Given the description of an element on the screen output the (x, y) to click on. 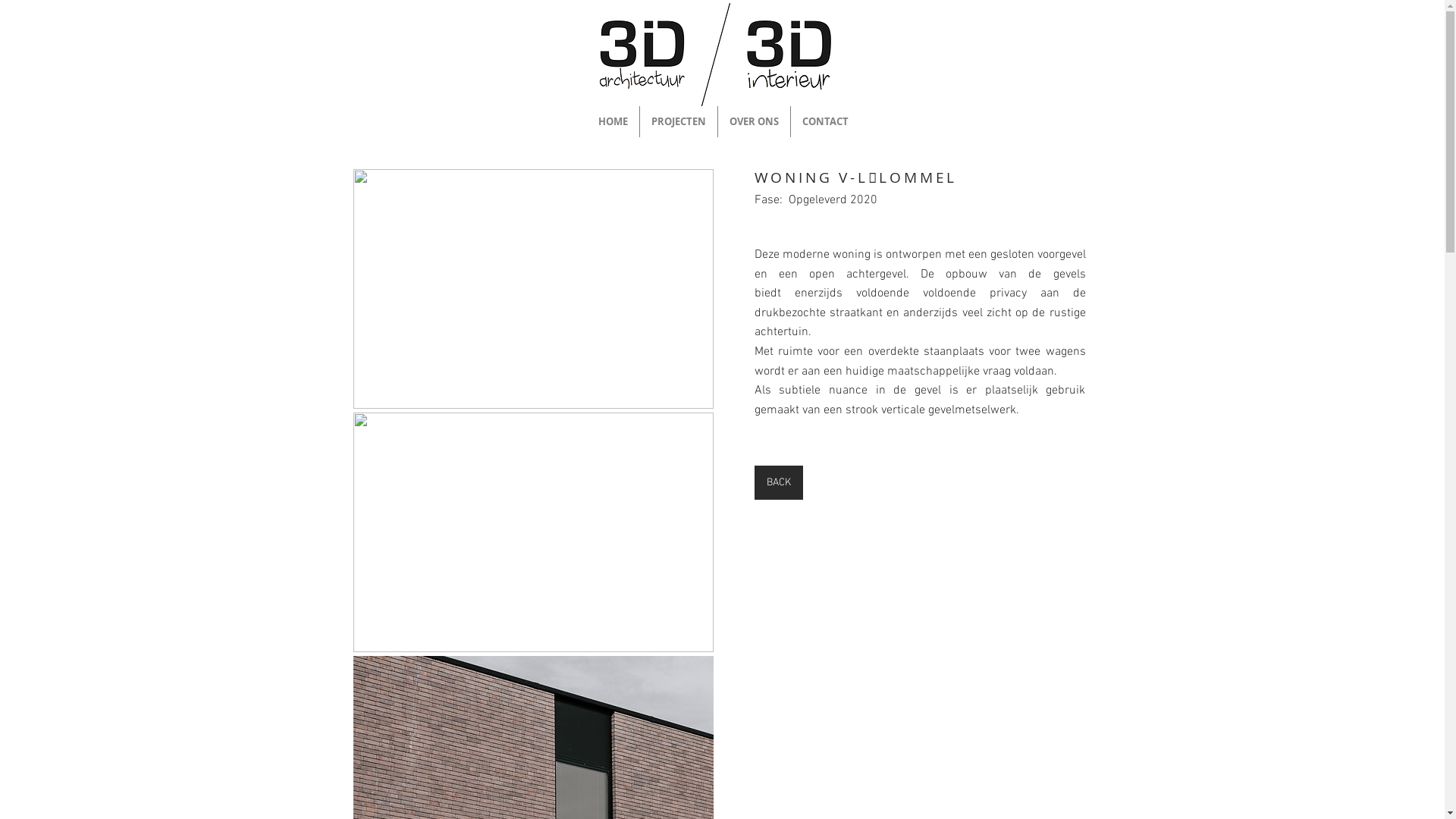
CONTACT Element type: text (824, 121)
OVER ONS Element type: text (753, 121)
BACK Element type: text (777, 482)
HOME Element type: text (612, 121)
PROJECTEN Element type: text (678, 121)
